Given the description of an element on the screen output the (x, y) to click on. 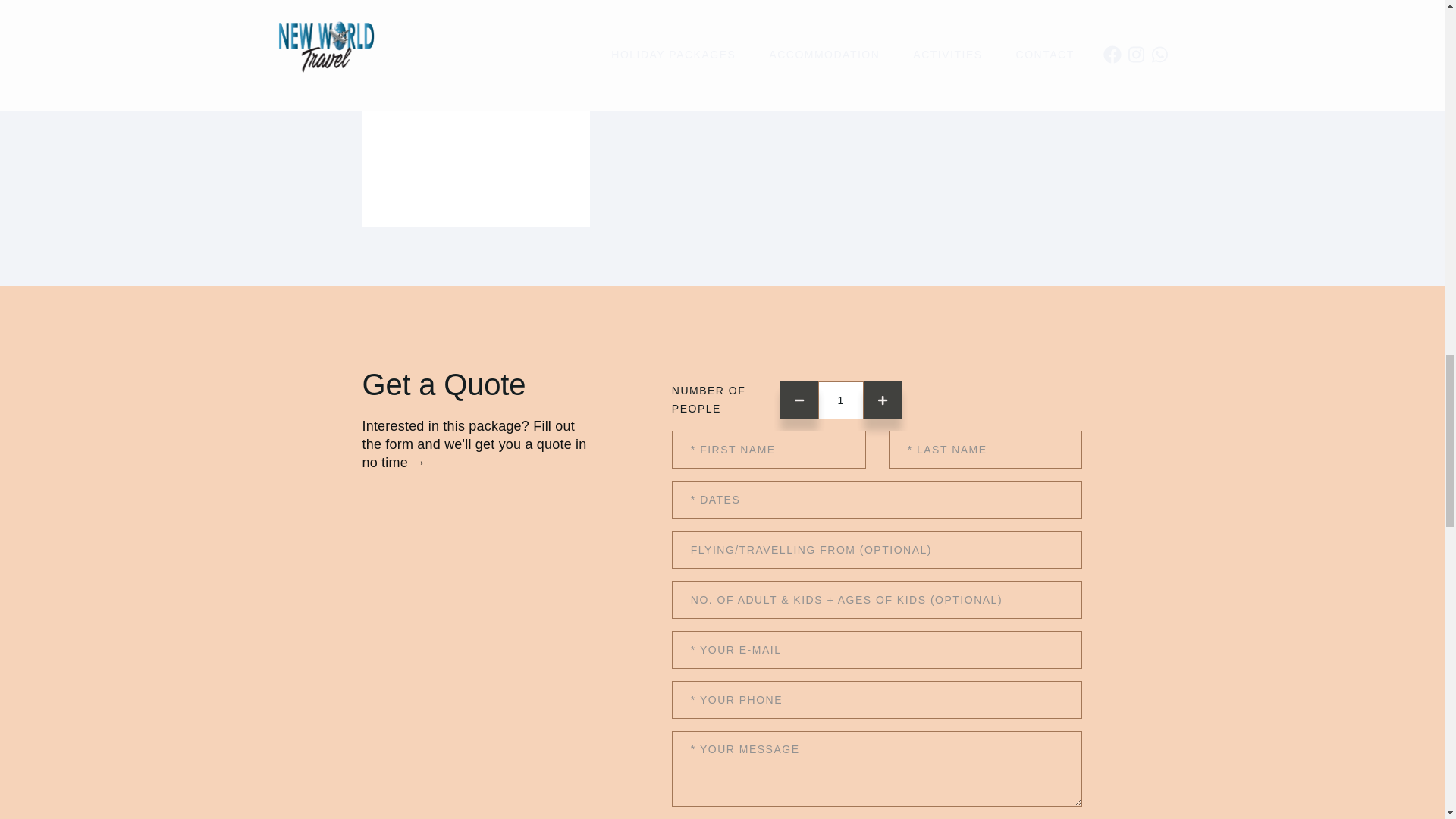
1 (840, 400)
